Given the description of an element on the screen output the (x, y) to click on. 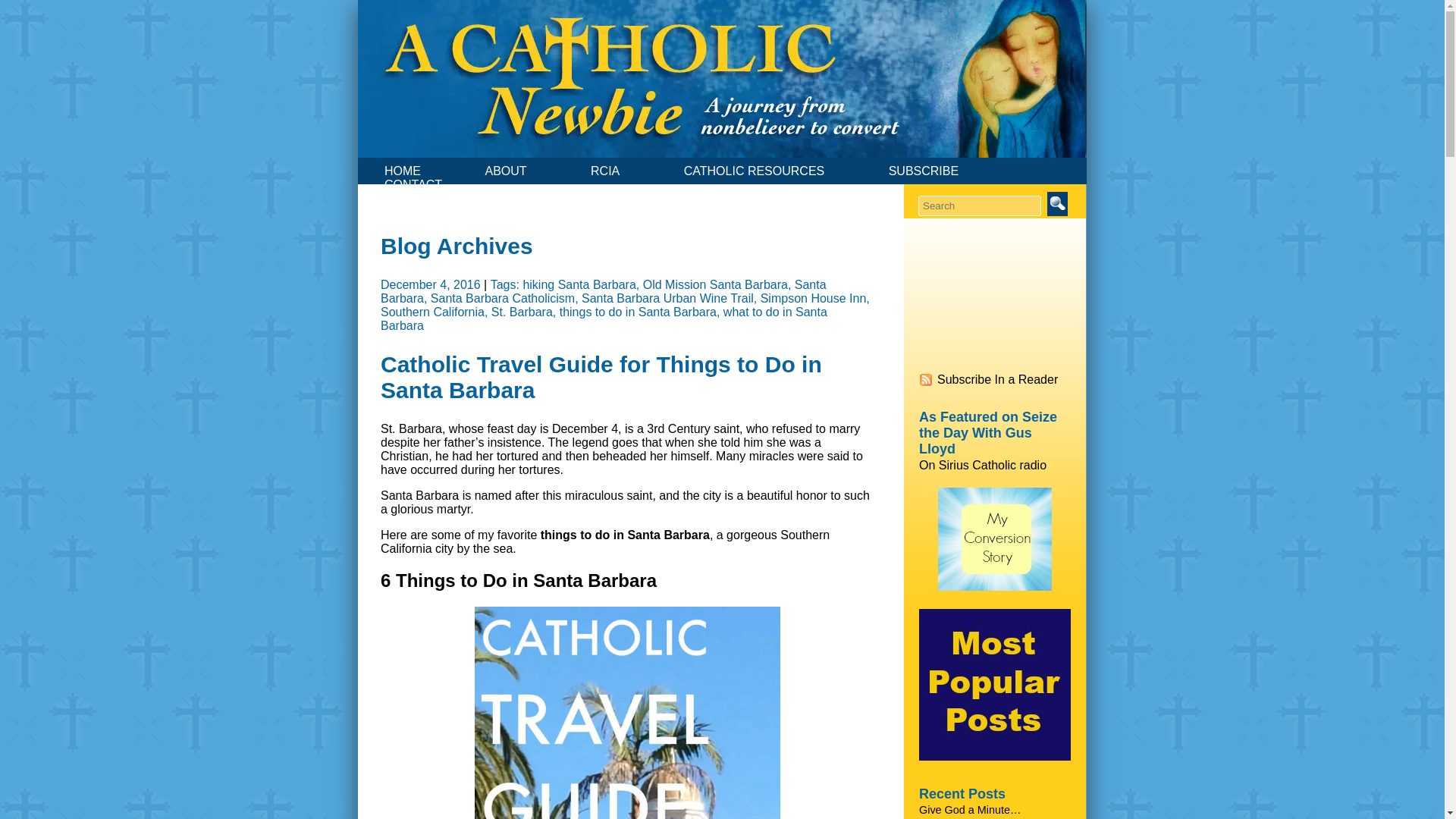
Santa Barbara Urban Wine Trail (667, 297)
things to do in Santa Barbara (637, 311)
ABOUT (504, 170)
HOME (402, 170)
Southern California (432, 311)
RCIA (605, 170)
Old Mission Santa Barbara (715, 284)
hiking Santa Barbara (578, 284)
CATHOLIC RESOURCES (754, 170)
Santa Barbara Catholicism (502, 297)
